Given the description of an element on the screen output the (x, y) to click on. 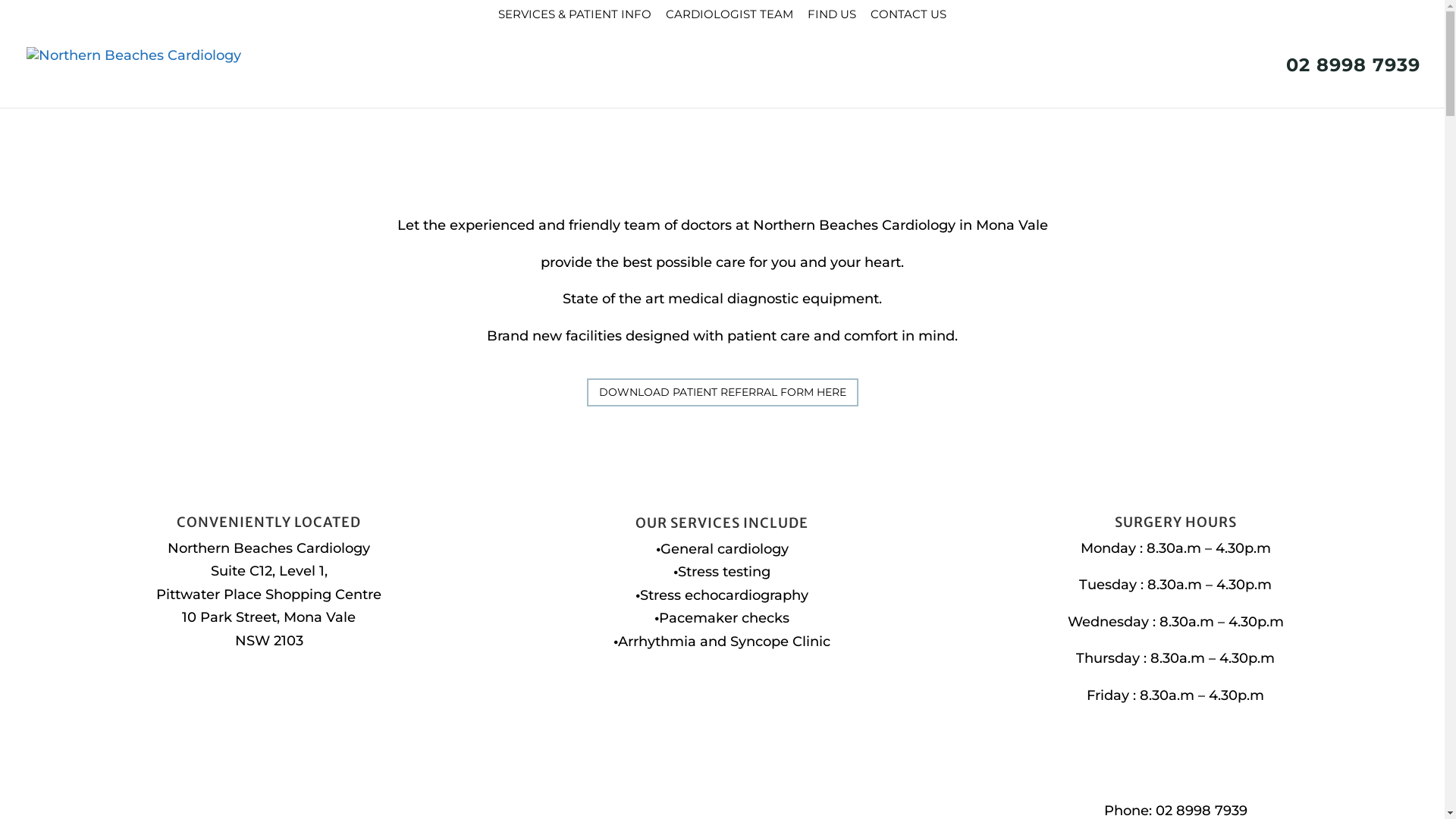
SERVICES & PATIENT INFO Element type: text (574, 18)
DOWNLOAD PATIENT REFERRAL FORM HERE Element type: text (722, 391)
CARDIOLOGIST TEAM Element type: text (729, 18)
CONTACT US Element type: text (908, 18)
02 8998 7939 Element type: text (1345, 83)
FIND US Element type: text (831, 18)
